Given the description of an element on the screen output the (x, y) to click on. 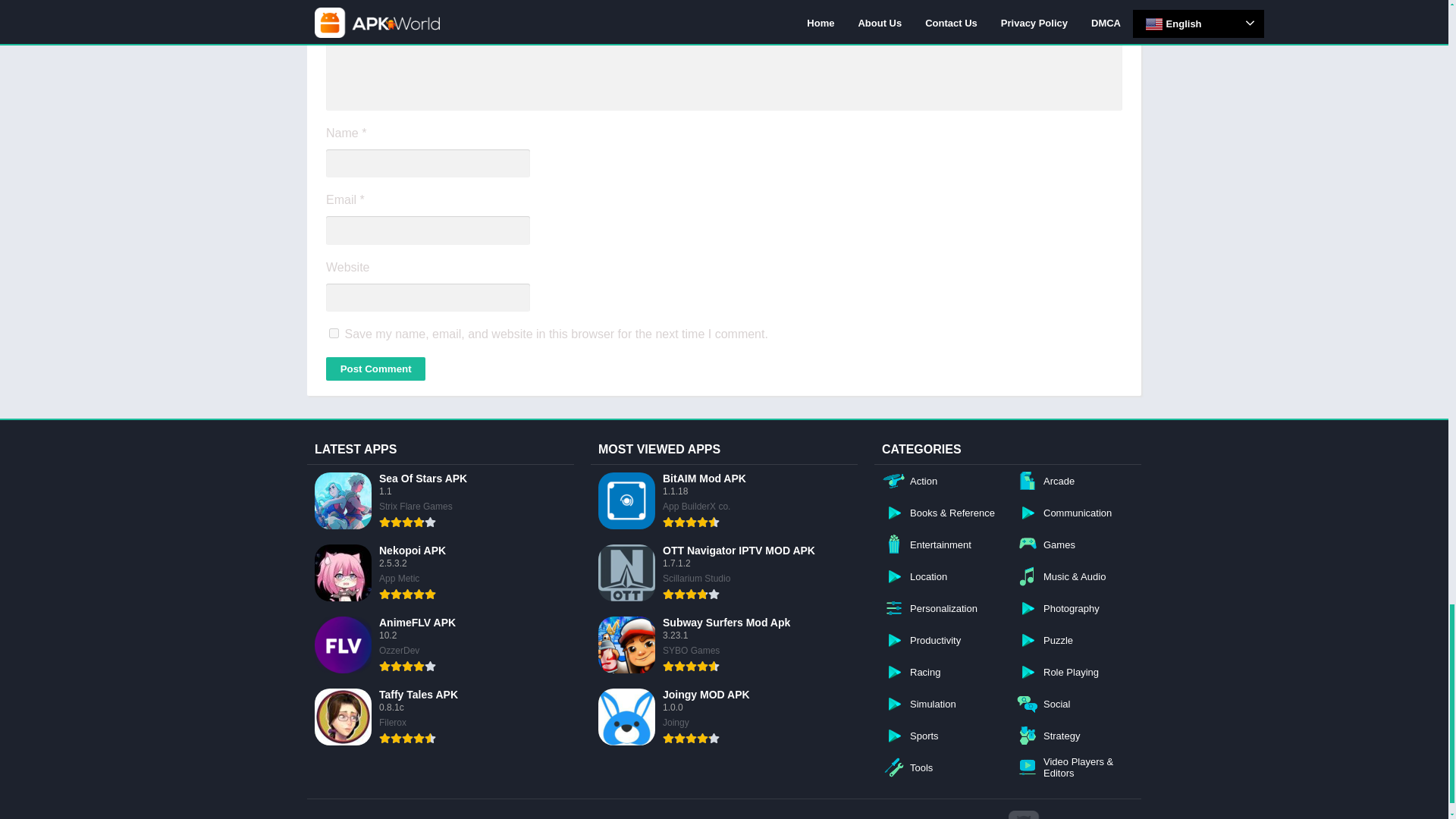
Post Comment (375, 368)
yes (334, 333)
